Given the description of an element on the screen output the (x, y) to click on. 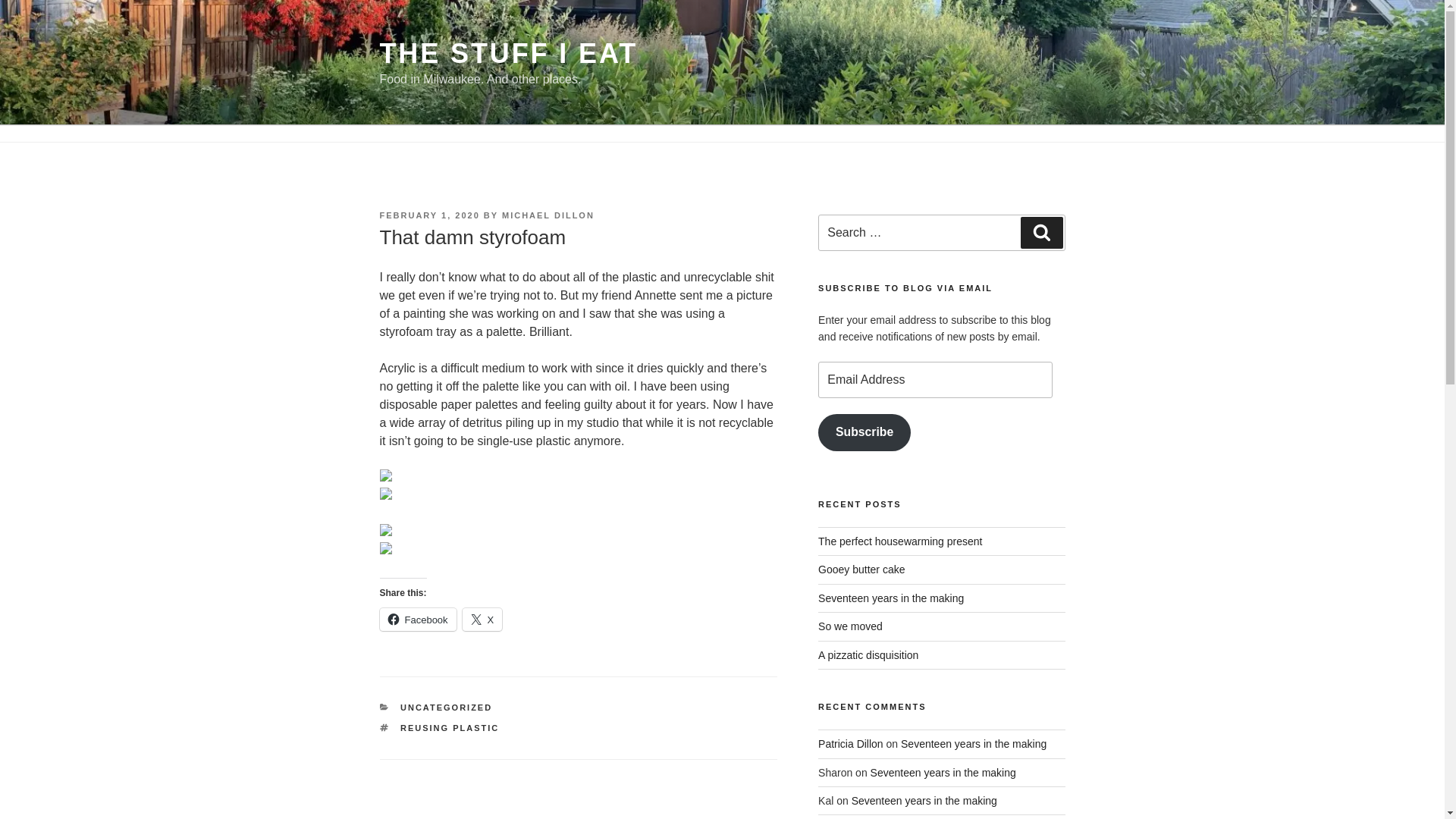
So we moved (850, 625)
FEBRUARY 1, 2020 (428, 215)
Click to share on Facebook (416, 619)
Seventeen years in the making (924, 800)
UNCATEGORIZED (446, 706)
Seventeen years in the making (973, 743)
REUSING PLASTIC (449, 727)
Facebook (416, 619)
A pizzatic disquisition (868, 654)
Seventeen years in the making (943, 772)
The perfect housewarming present (899, 541)
X (482, 619)
Subscribe (864, 432)
MICHAEL DILLON (548, 215)
Patricia Dillon (850, 743)
